Given the description of an element on the screen output the (x, y) to click on. 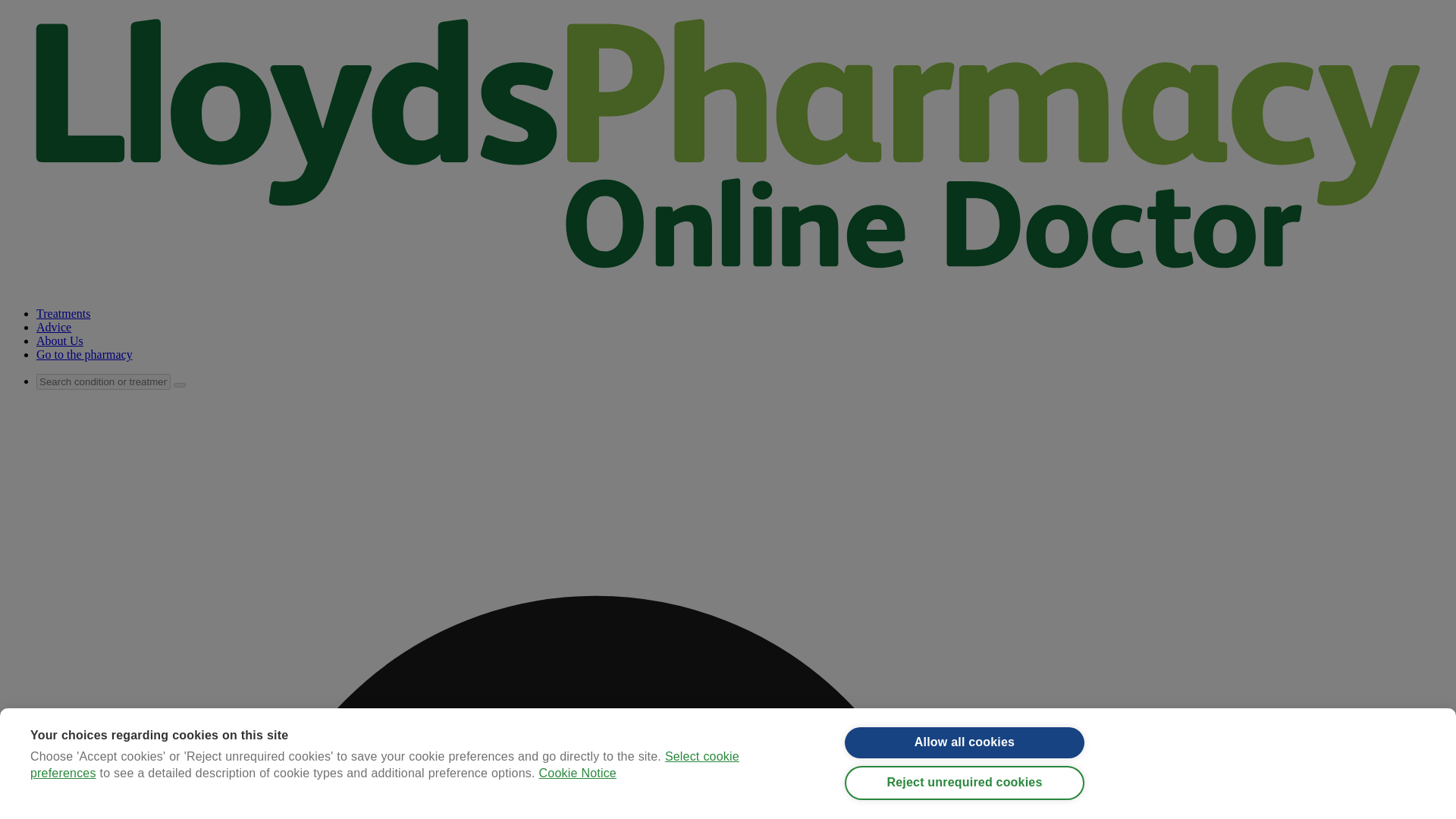
Search condition or treatment (103, 381)
Treatments (63, 313)
Select cookie preferences (384, 764)
About Us (59, 340)
Allow all cookies (964, 742)
Advice (53, 327)
Go to the pharmacy (84, 354)
Reject unrequired cookies (964, 782)
Cookie Notice (576, 772)
